Given the description of an element on the screen output the (x, y) to click on. 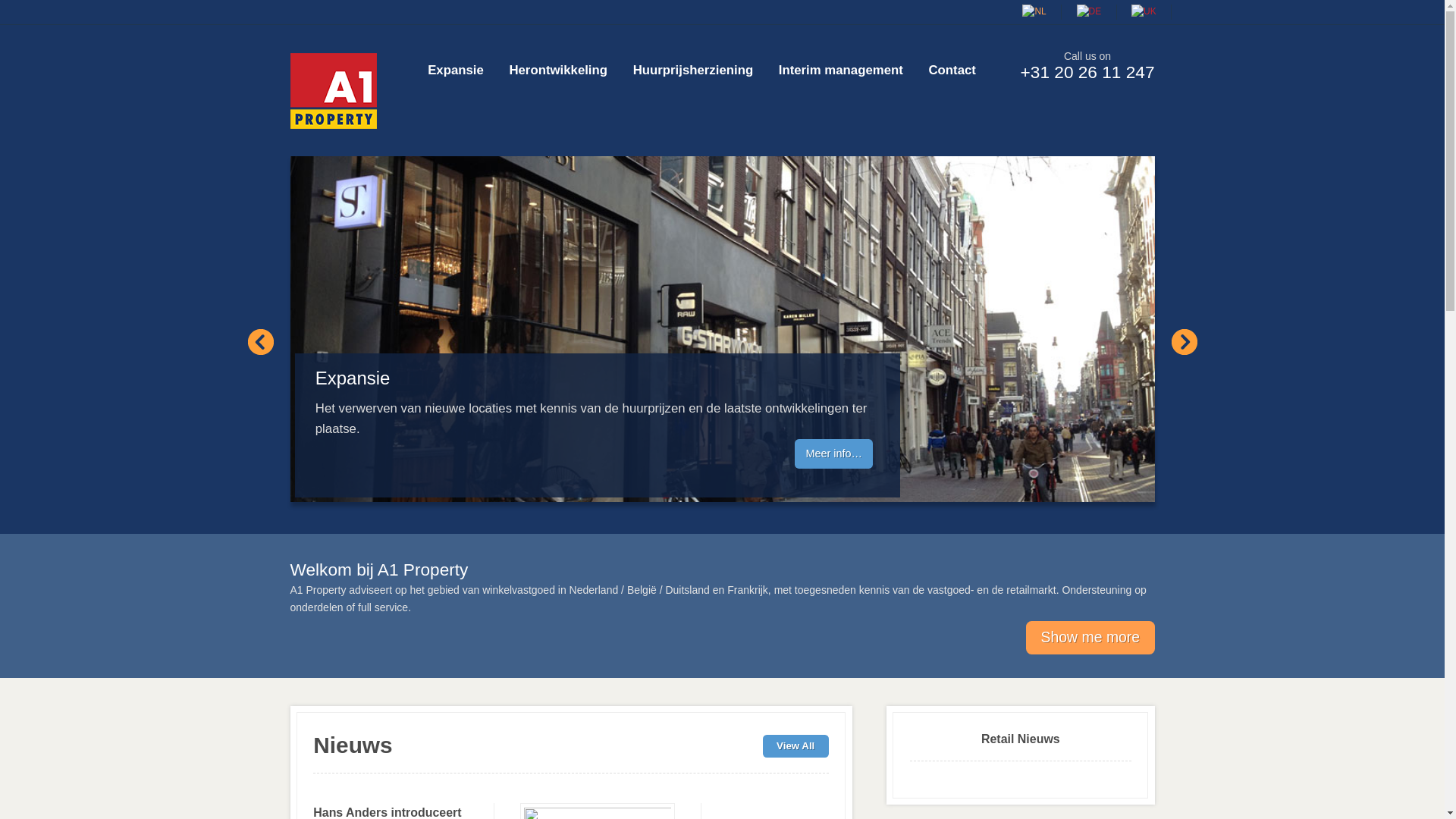
Next Element type: text (1183, 341)
Expansie Element type: text (454, 70)
Herontwikkeling Element type: text (558, 70)
View All Element type: text (795, 745)
Previous Element type: text (260, 341)
Expansie Element type: hover (721, 329)
Contact Element type: text (952, 70)
Interim management Element type: text (840, 70)
Crossborder Retail Consultancy Element type: hover (332, 90)
Show me more Element type: text (1090, 637)
Huurprijsherziening Element type: text (692, 70)
